Given the description of an element on the screen output the (x, y) to click on. 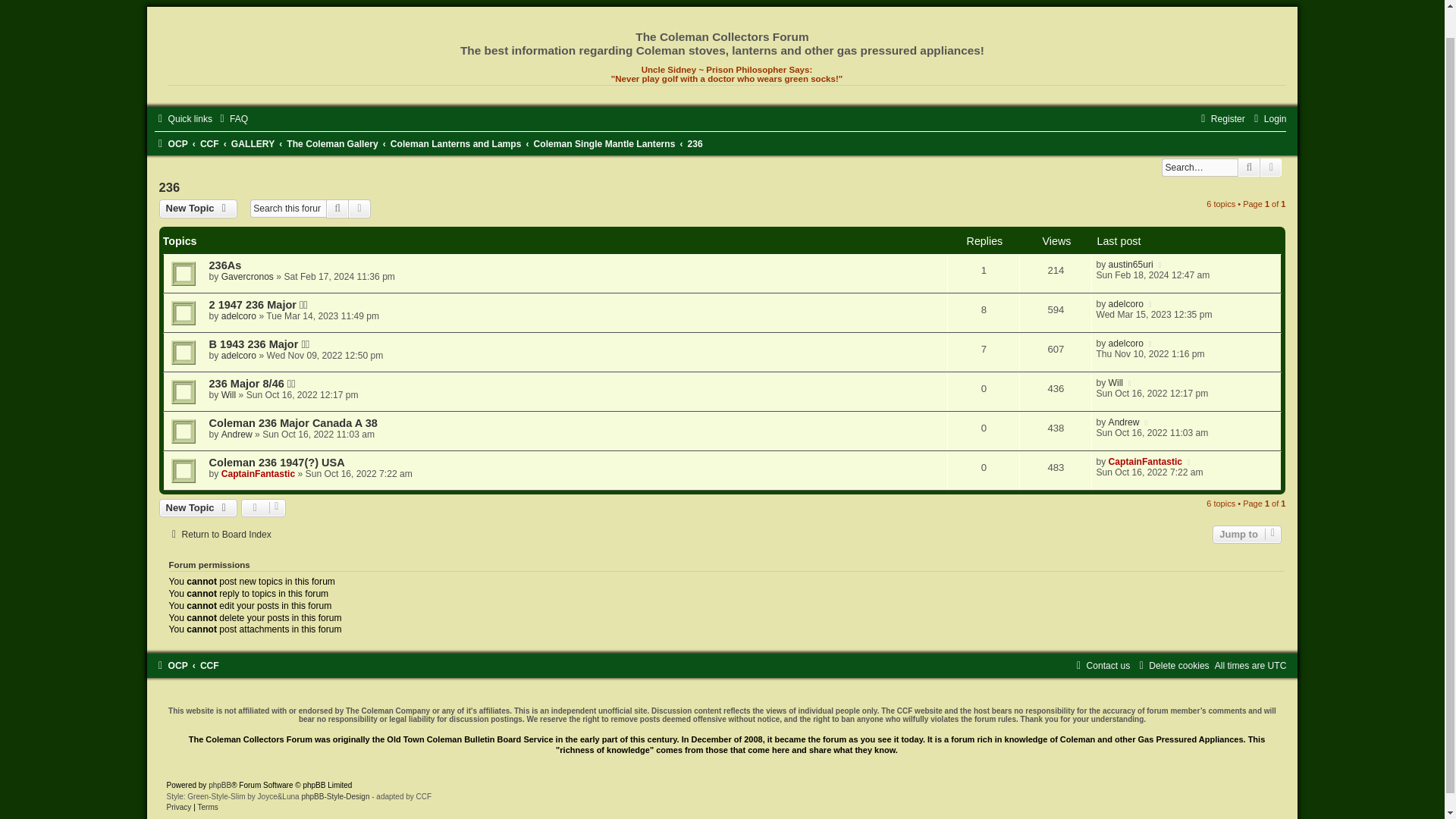
236As (225, 265)
236 (695, 143)
Coleman Lanterns and Lamps (455, 143)
Search (337, 208)
236 (695, 143)
Advanced search (360, 208)
236 (169, 187)
Coleman Lanterns and Lamps (455, 143)
The Coleman Gallery (331, 143)
Search (337, 208)
OCP (170, 143)
No unread posts (722, 273)
Search (1248, 167)
adelcoro (238, 316)
OCP (170, 143)
